Given the description of an element on the screen output the (x, y) to click on. 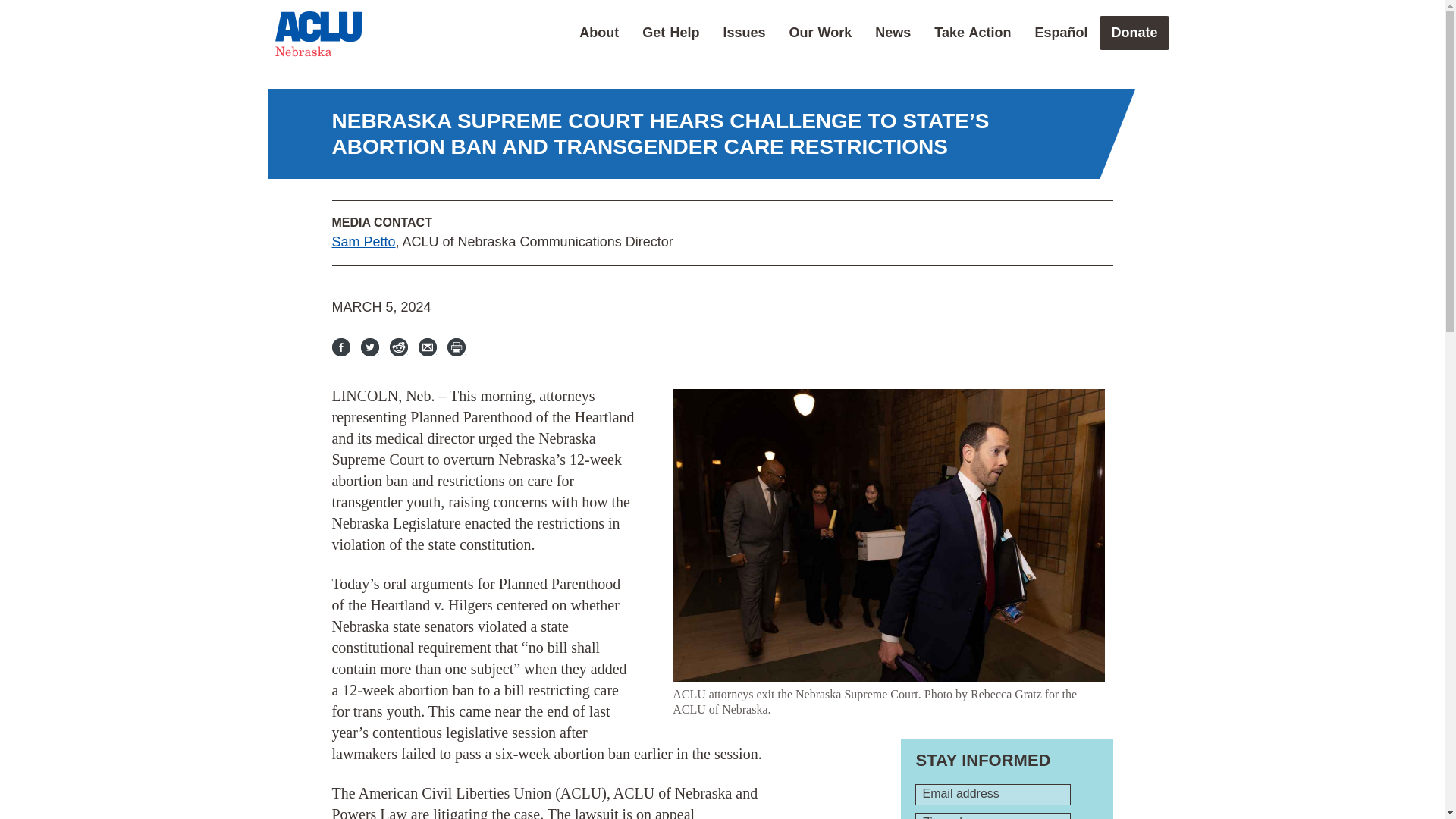
Sam Petto (363, 241)
Get Help (670, 32)
Facebook (340, 347)
Email address (992, 794)
Email this page (427, 347)
Zip code (992, 816)
Matthew Segal and team arrive for arguments (888, 535)
Reddit (398, 347)
Take Action (972, 32)
Submit this to Facebook (340, 347)
ACLU of Nebraska - logo (318, 33)
Submit this to Reddit (398, 347)
Submit this to Twitter (369, 347)
Donate (1134, 32)
